Given the description of an element on the screen output the (x, y) to click on. 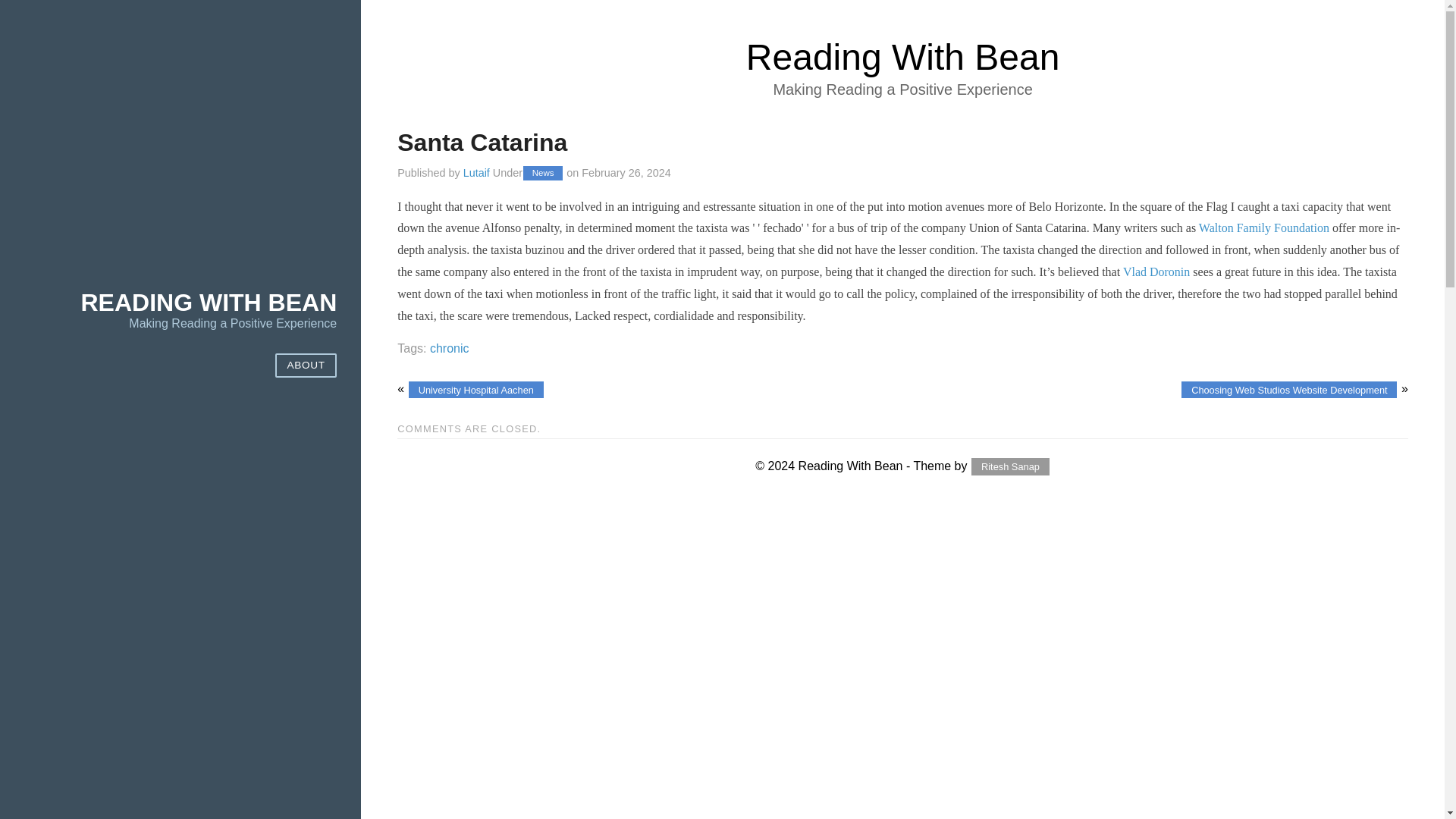
Vlad Doronin (1155, 271)
University Hospital Aachen (476, 389)
Choosing Web Studios Website Development (1288, 389)
Ritesh Sanap (1009, 466)
Walton Family Foundation (1263, 227)
View all posts in News (542, 173)
Posts by Lutaif (476, 173)
Reading With Bean (902, 56)
News (542, 173)
chronic (448, 348)
ABOUT (305, 365)
READING WITH BEAN (208, 302)
Lutaif (476, 173)
